Given the description of an element on the screen output the (x, y) to click on. 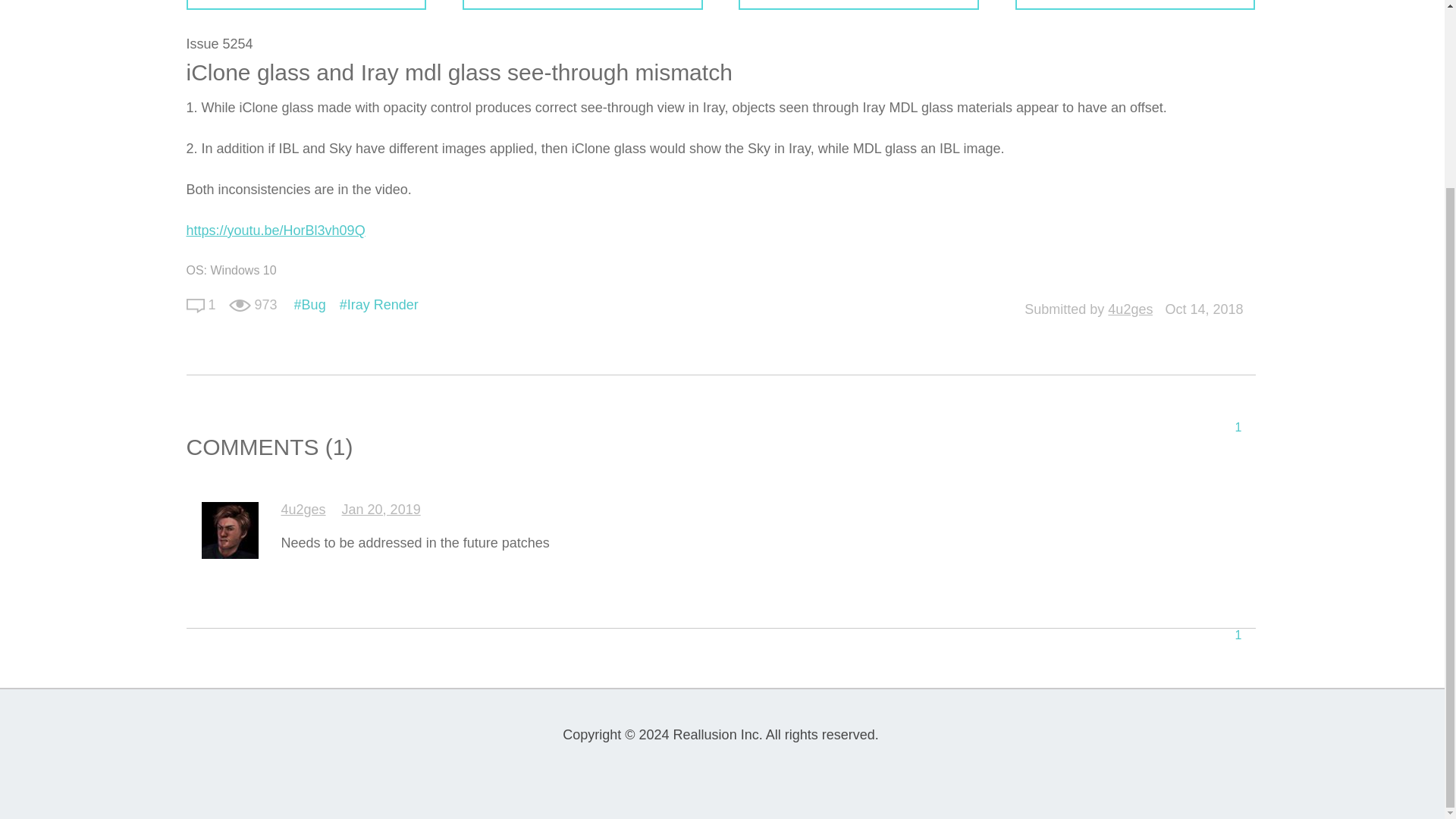
Iray Render (379, 304)
Bug (310, 304)
Comments (195, 305)
Views (239, 305)
